Given the description of an element on the screen output the (x, y) to click on. 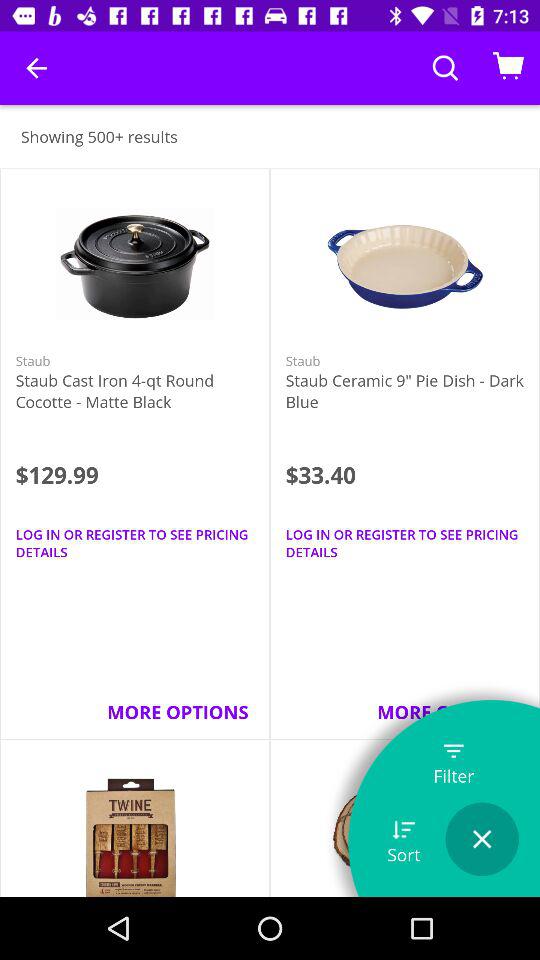
tap the icon below the filter item (482, 839)
